Given the description of an element on the screen output the (x, y) to click on. 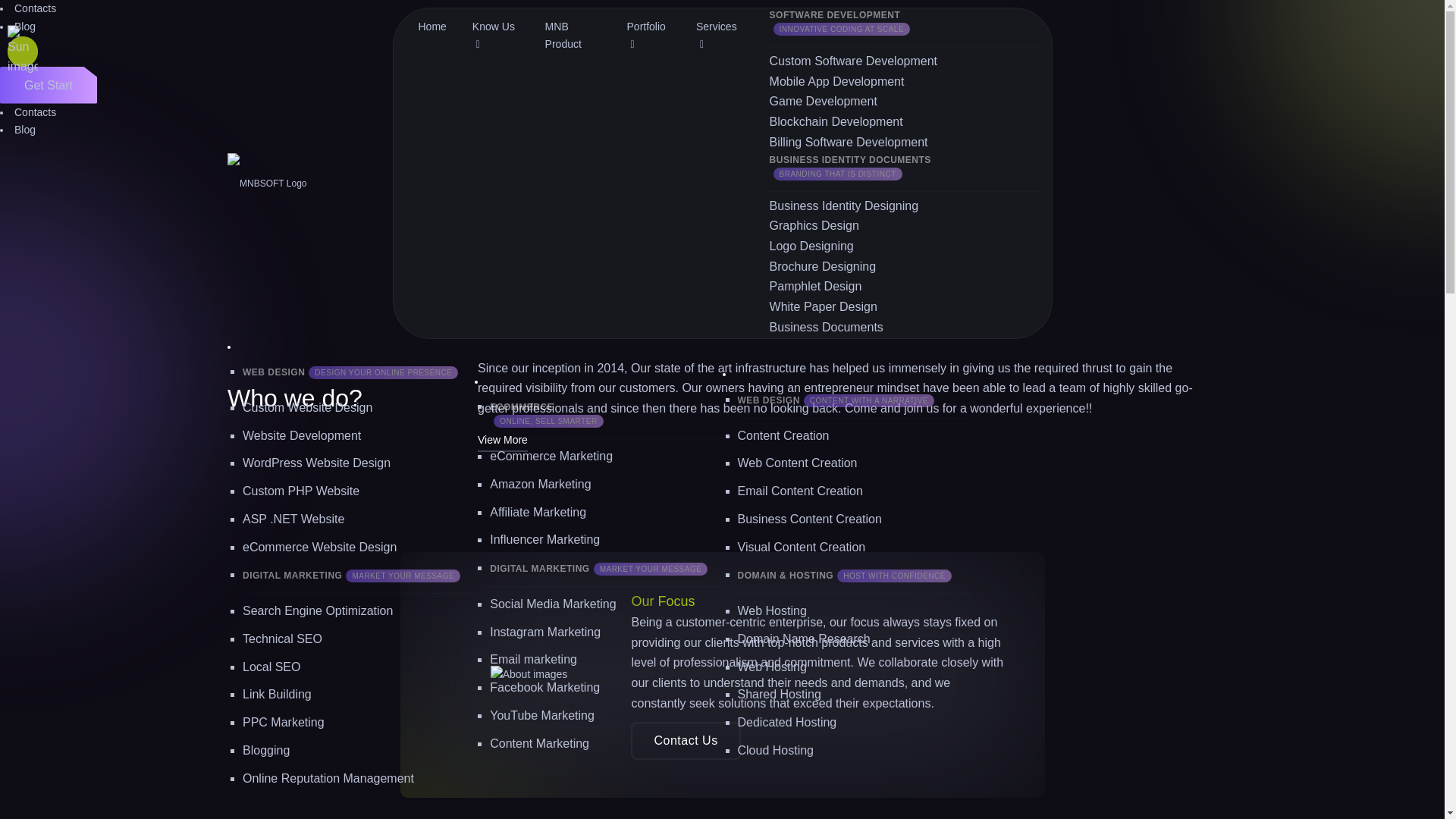
Business Identity Designing (844, 205)
Search Engine Optimization (318, 610)
Brochure Designing (823, 266)
Graphics Design (814, 225)
Custom PHP Website (301, 490)
Logo Designing (811, 245)
Blogging (266, 749)
Portfolio (648, 35)
ASP .NET Website (293, 518)
White Paper Design (823, 306)
